Given the description of an element on the screen output the (x, y) to click on. 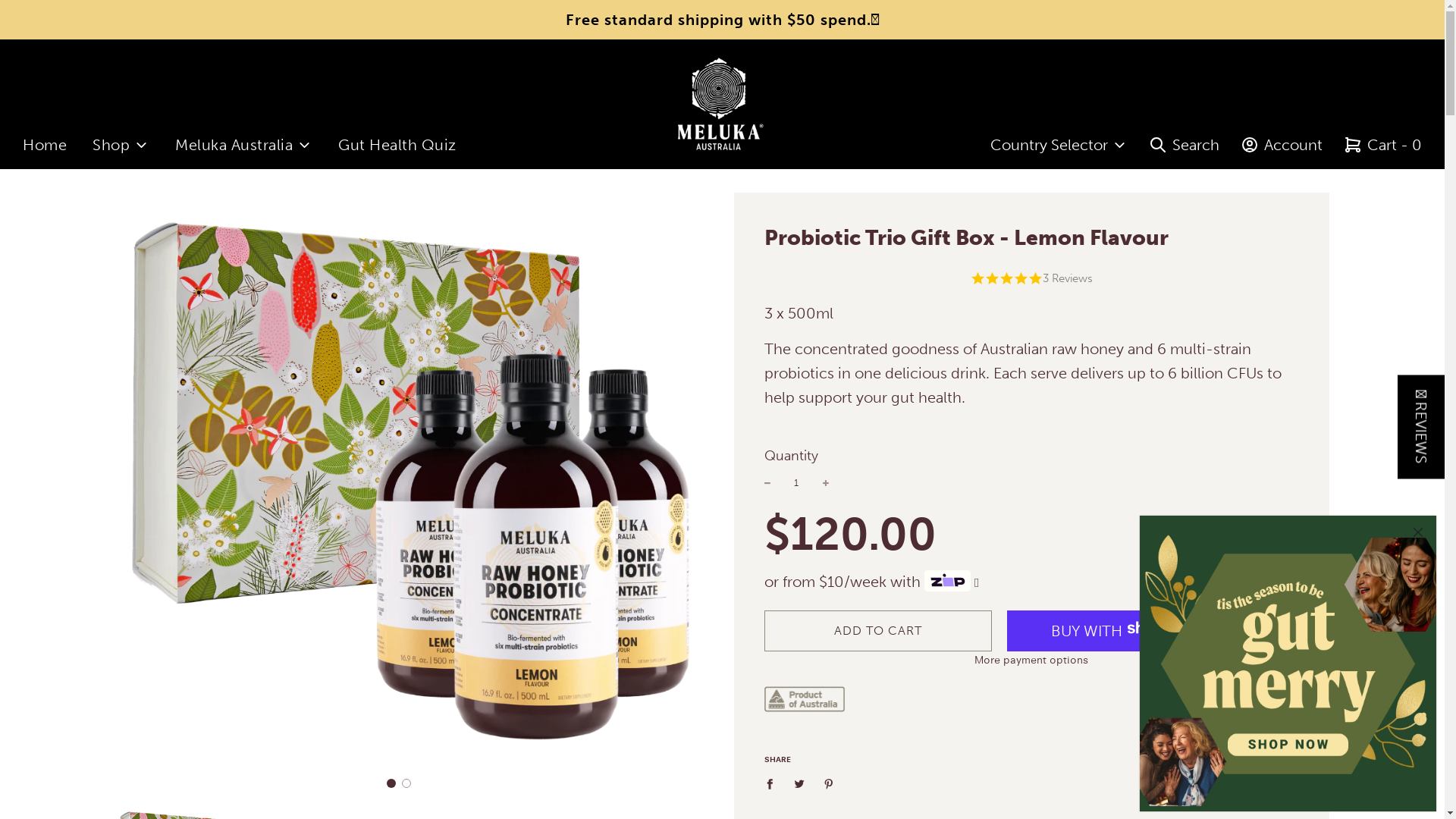
Gut Health Quiz Element type: text (396, 144)
Cart - 0 Element type: text (1383, 144)
Shop Element type: text (120, 144)
Search Element type: text (1184, 144)
Home Element type: text (44, 144)
LOADING...
ADD TO CART Element type: text (877, 630)
Account Element type: text (1282, 144)
More payment options Element type: text (1031, 659)
Meluka Australia Element type: text (243, 144)
3 Reviews Element type: text (1066, 278)
